Given the description of an element on the screen output the (x, y) to click on. 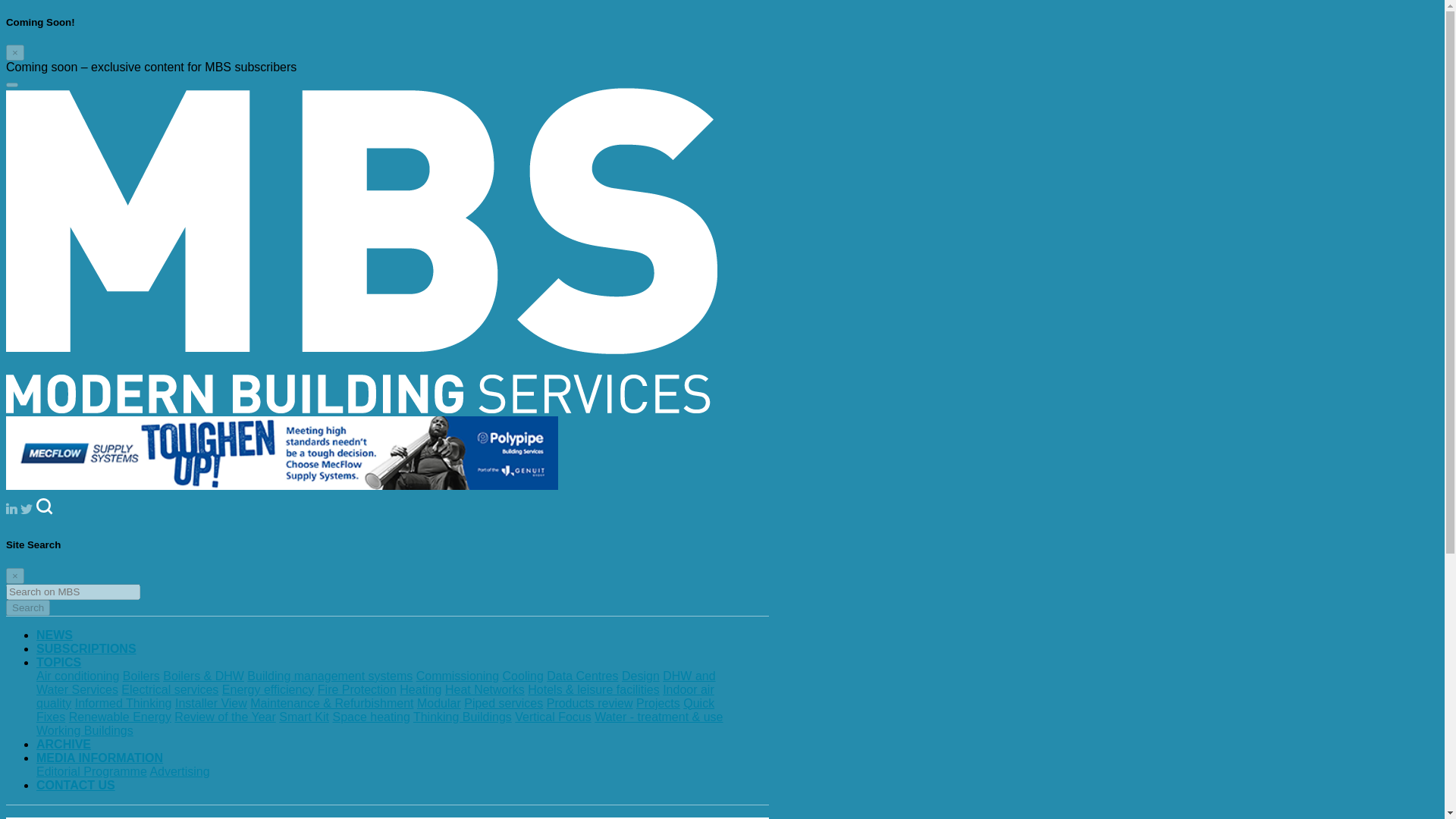
Heat Networks (484, 689)
Air conditioning (77, 675)
Renewable Energy (119, 716)
Cooling (522, 675)
DHW and Water Services (376, 682)
Design (640, 675)
Projects (657, 703)
Fire Protection (356, 689)
Electrical services (169, 689)
Search (27, 607)
